Given the description of an element on the screen output the (x, y) to click on. 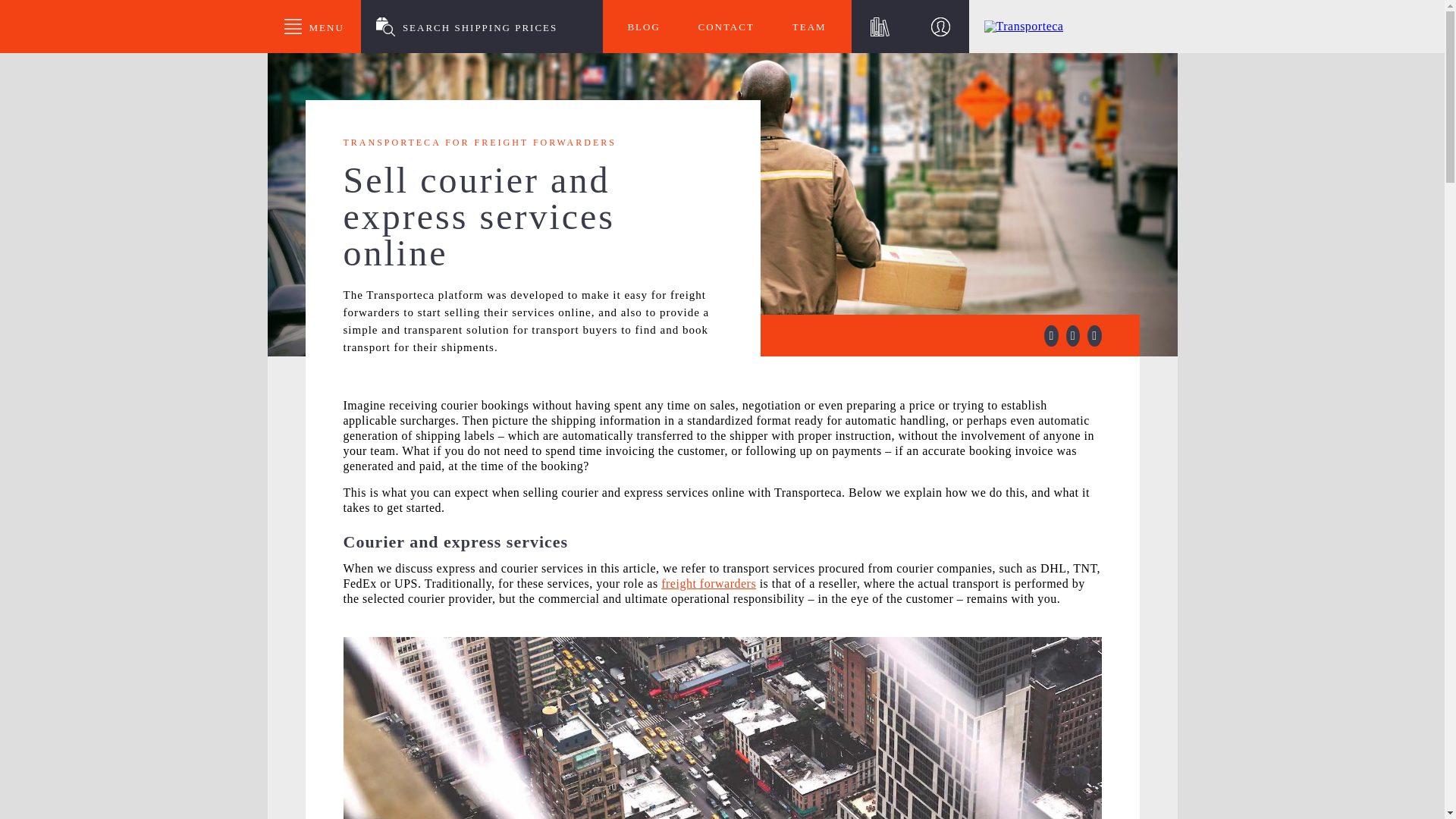
TEAM (809, 26)
BLOG (643, 26)
CONTACT (725, 26)
freight forwarders (708, 583)
